Given the description of an element on the screen output the (x, y) to click on. 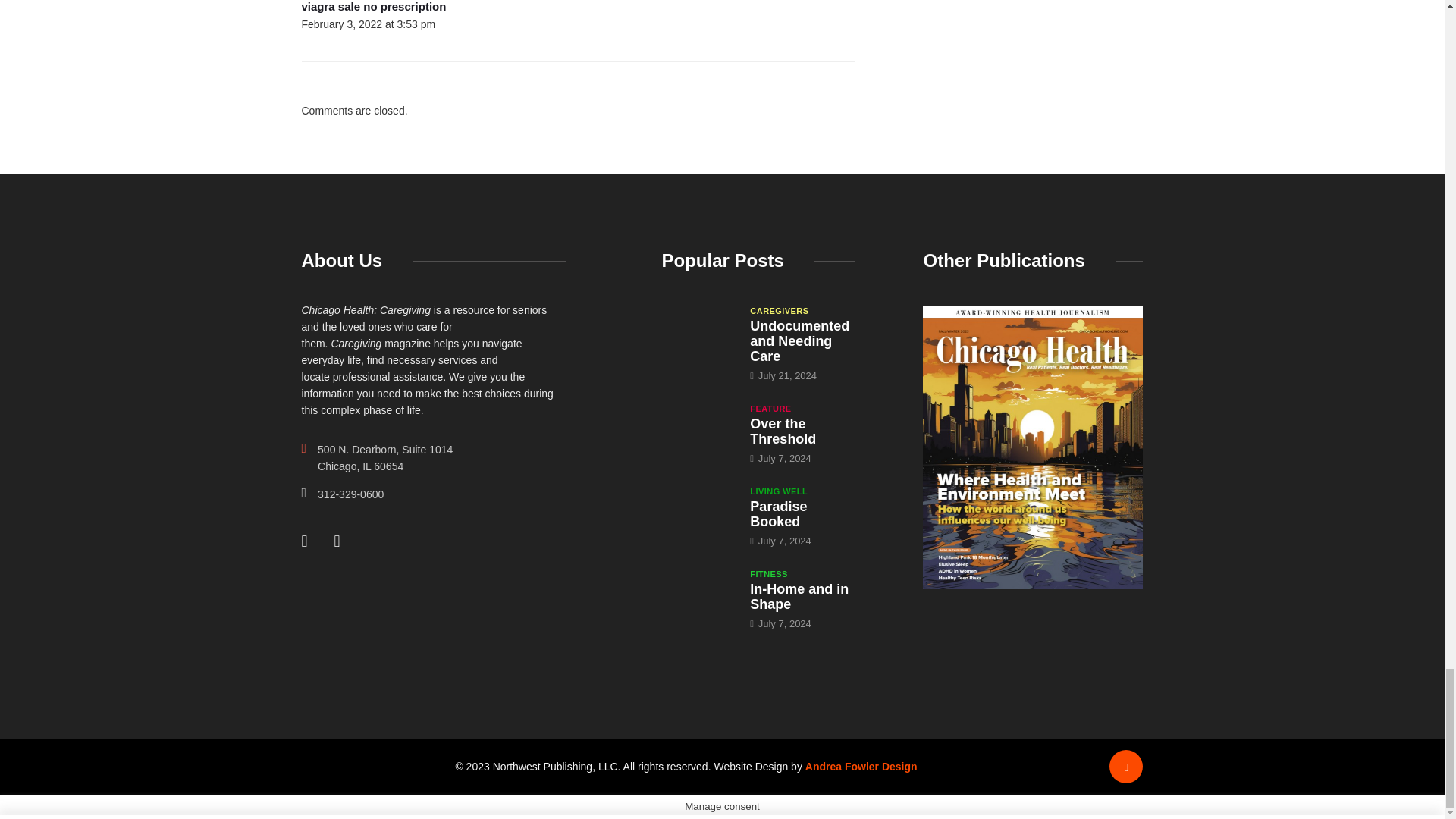
In-Home and in Shape (698, 594)
In-Home and in Shape (798, 596)
Over the Threshold (698, 428)
Paradise Booked (777, 513)
Paradise Booked (698, 511)
Over the Threshold (782, 431)
Undocumented and Needing Care (798, 340)
Undocumented and Needing Care (698, 331)
